Given the description of an element on the screen output the (x, y) to click on. 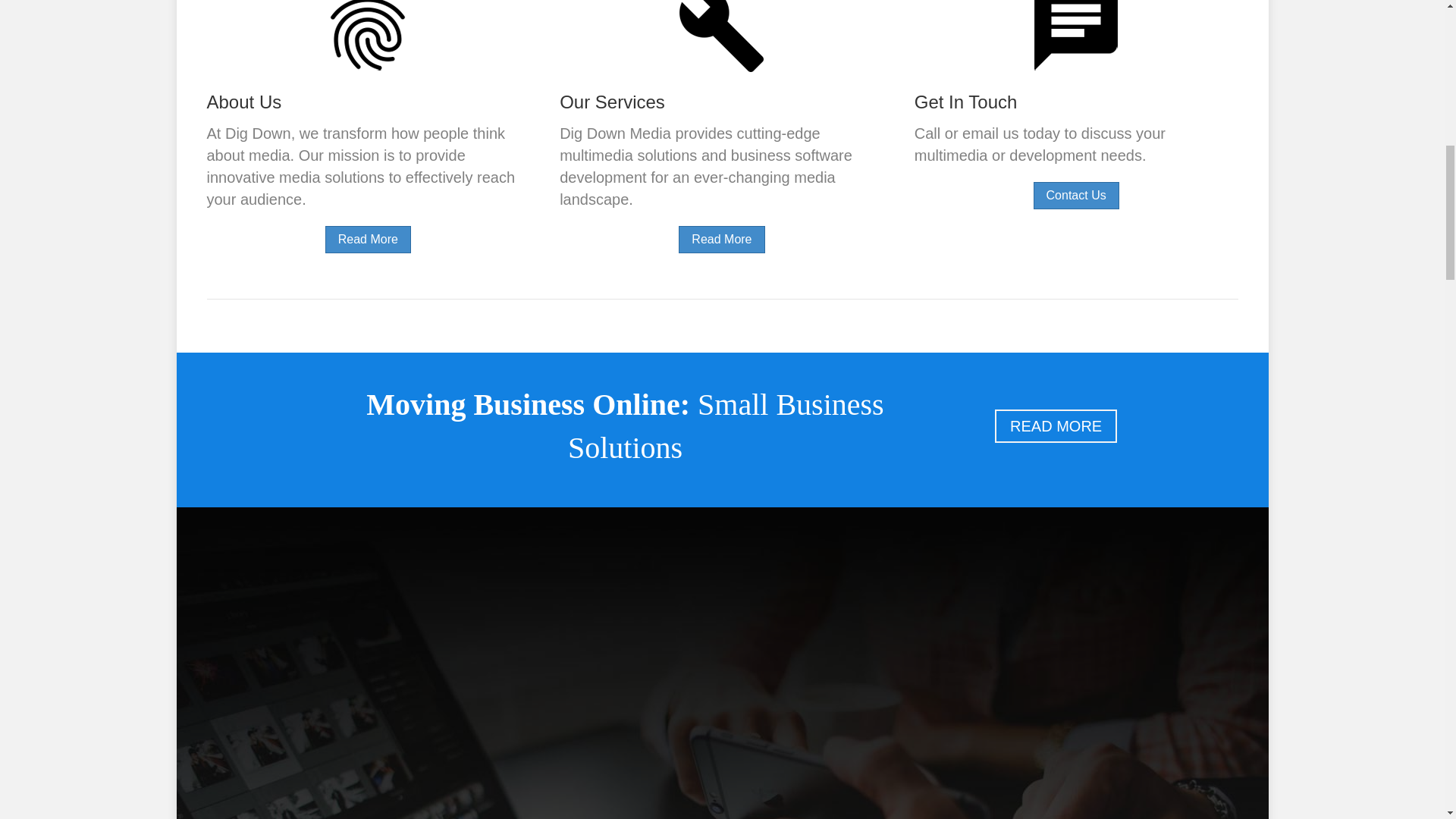
Read More (367, 239)
About Us (243, 101)
Our Services (612, 101)
Read More (721, 239)
